Given the description of an element on the screen output the (x, y) to click on. 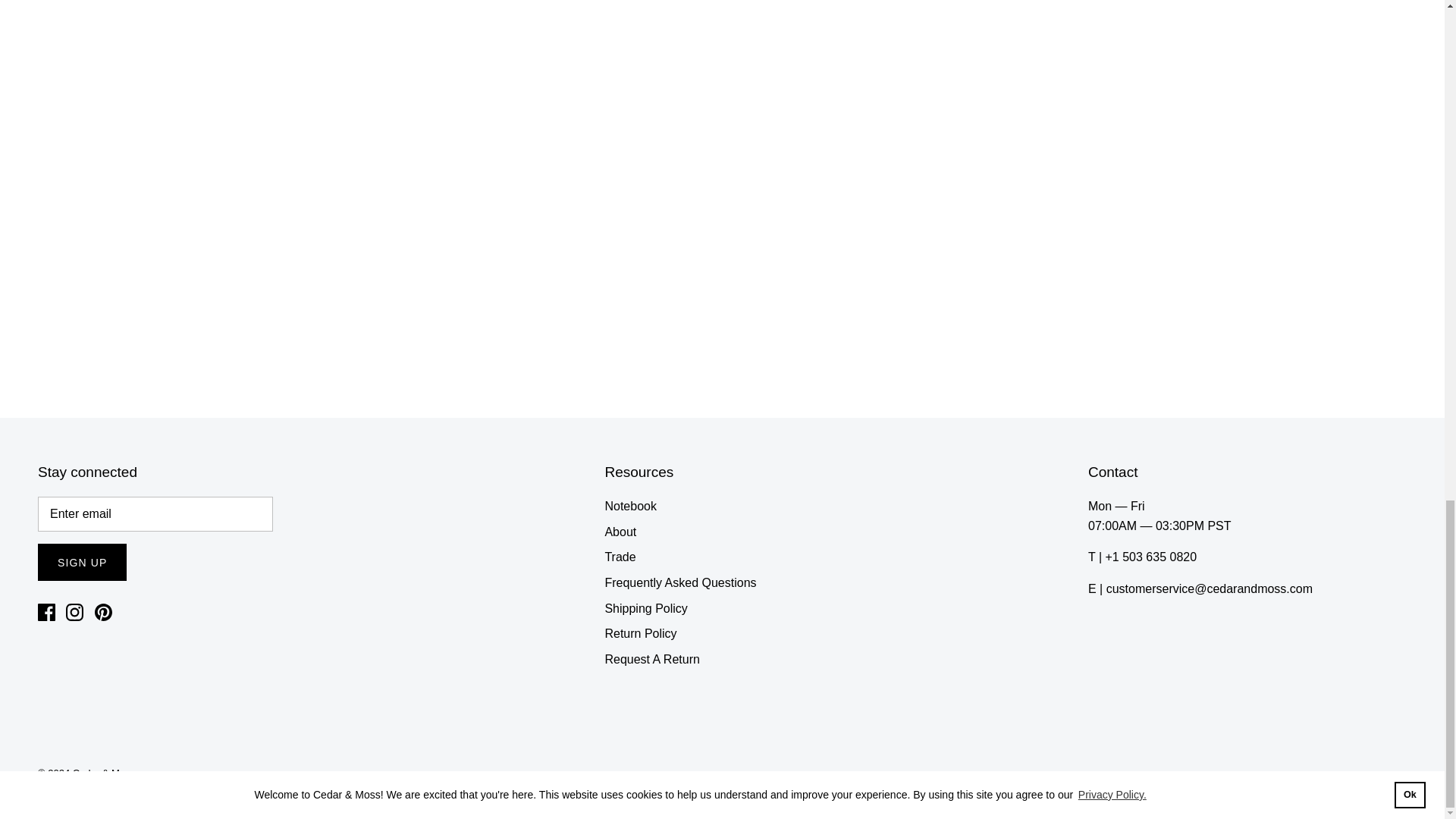
Instagram (73, 611)
Pinterest (103, 611)
Facebook (46, 611)
